Given the description of an element on the screen output the (x, y) to click on. 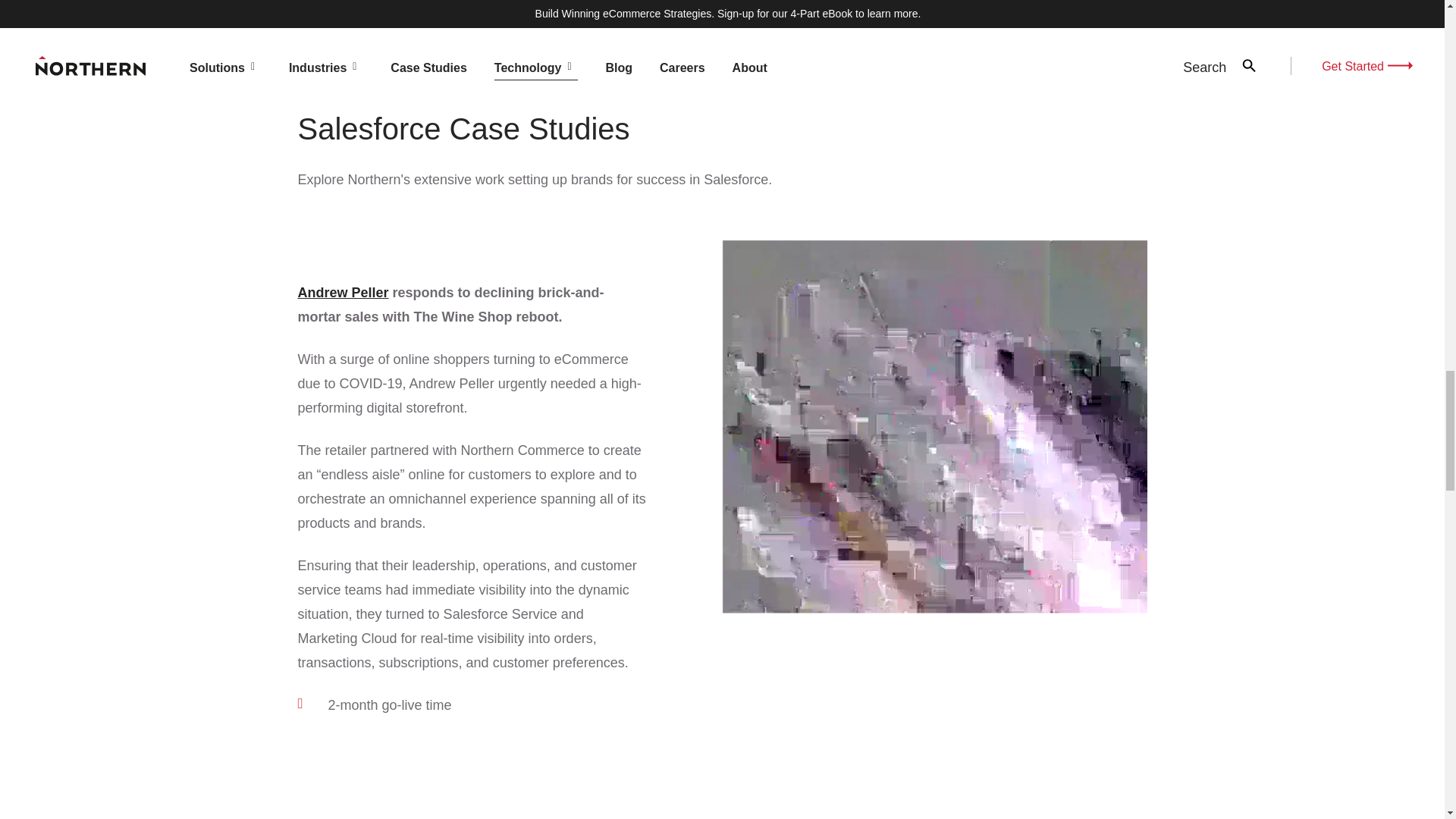
Andrew Peller, The Wine Shop Reboot (342, 292)
